Given the description of an element on the screen output the (x, y) to click on. 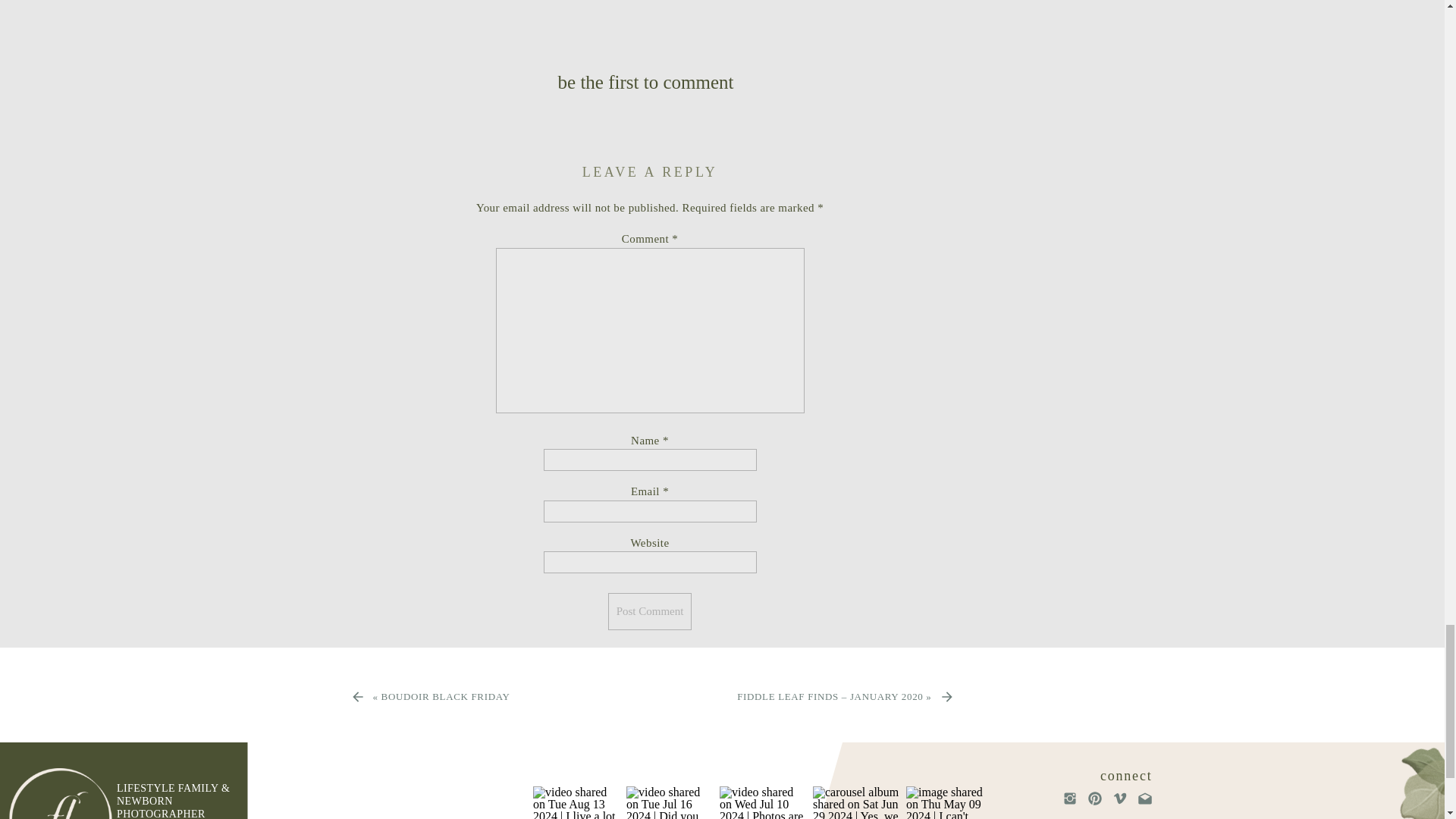
BOUDOIR BLACK FRIDAY (446, 696)
Post Comment (650, 610)
be the first to comment (645, 82)
Post Comment (650, 610)
